Given the description of an element on the screen output the (x, y) to click on. 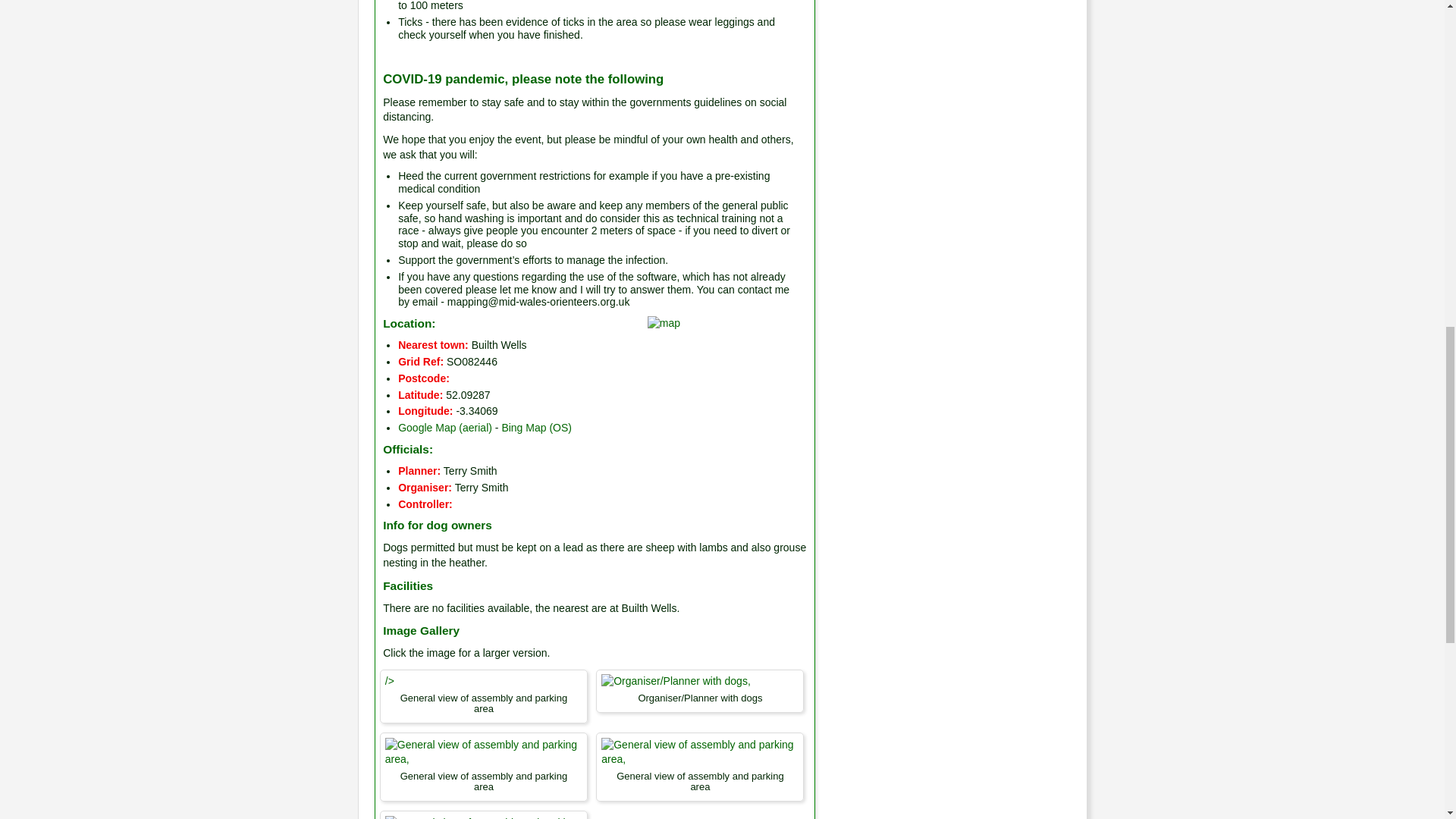
General view of assembly and parking area (483, 817)
General view of assembly and parking area (699, 752)
Go to Google maps in a new tab for an interactive map (663, 322)
Opens in a new tab (444, 427)
Opens in a new tab (536, 427)
General view of assembly and parking area (483, 752)
